Given the description of an element on the screen output the (x, y) to click on. 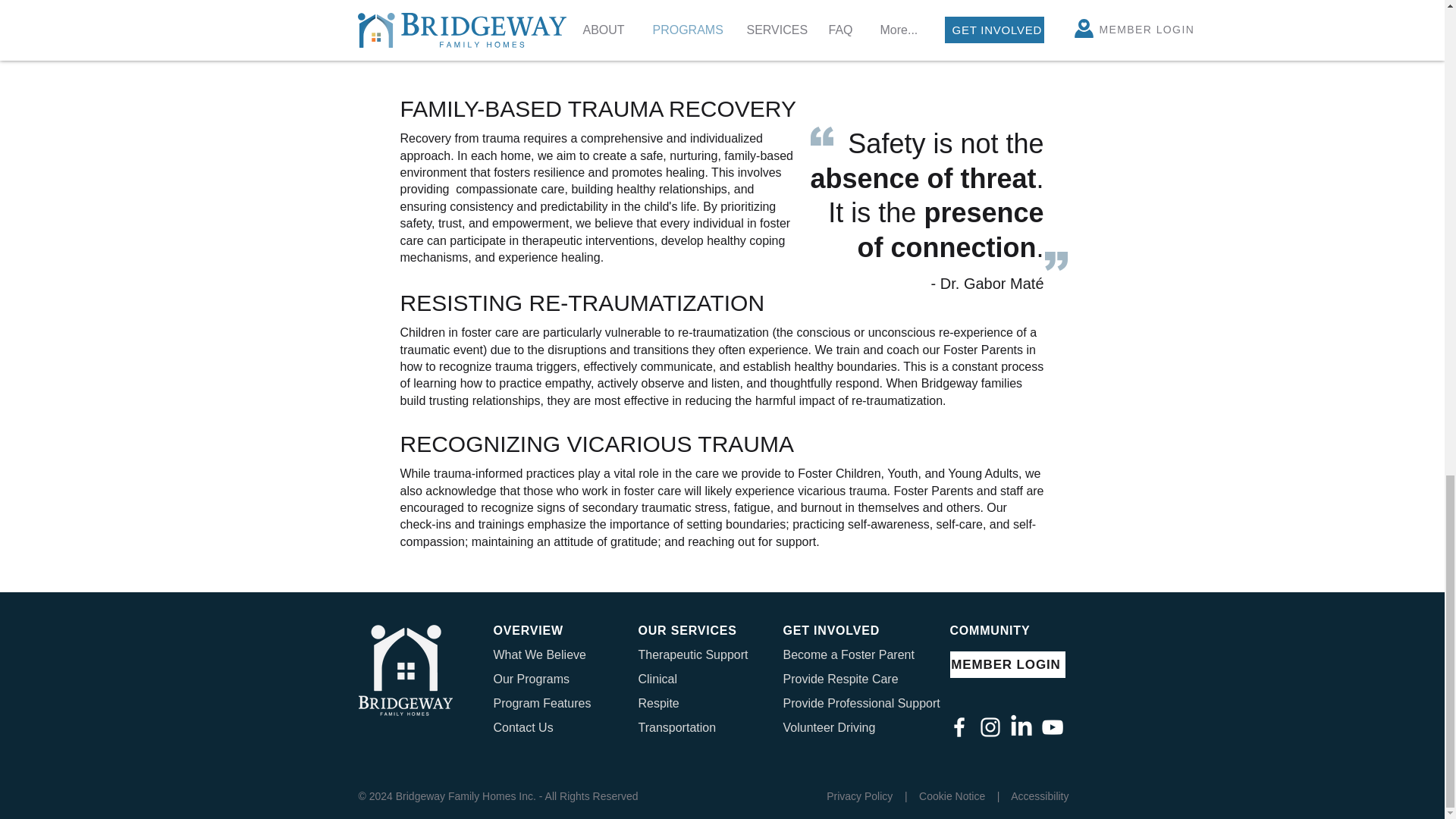
Program Features (542, 703)
What We Believe (539, 654)
Contact Us (523, 727)
Clinical (658, 678)
Therapeutic Support (693, 654)
Our Programs (531, 678)
GET INVOLVED (831, 630)
Transportation (677, 727)
OVERVIEW (527, 630)
Respite (659, 703)
